Given the description of an element on the screen output the (x, y) to click on. 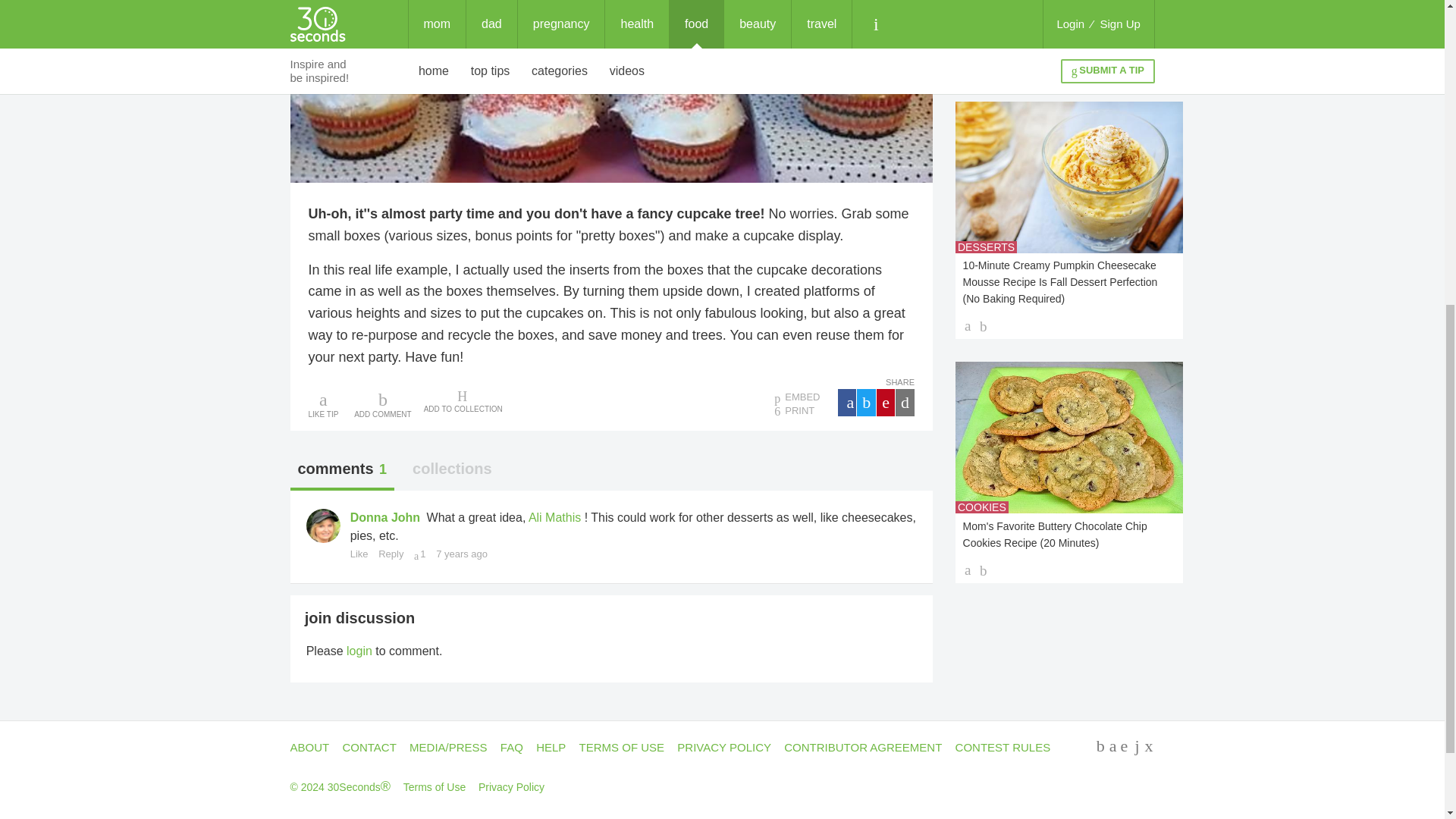
ADD COMMENT (382, 403)
